Given the description of an element on the screen output the (x, y) to click on. 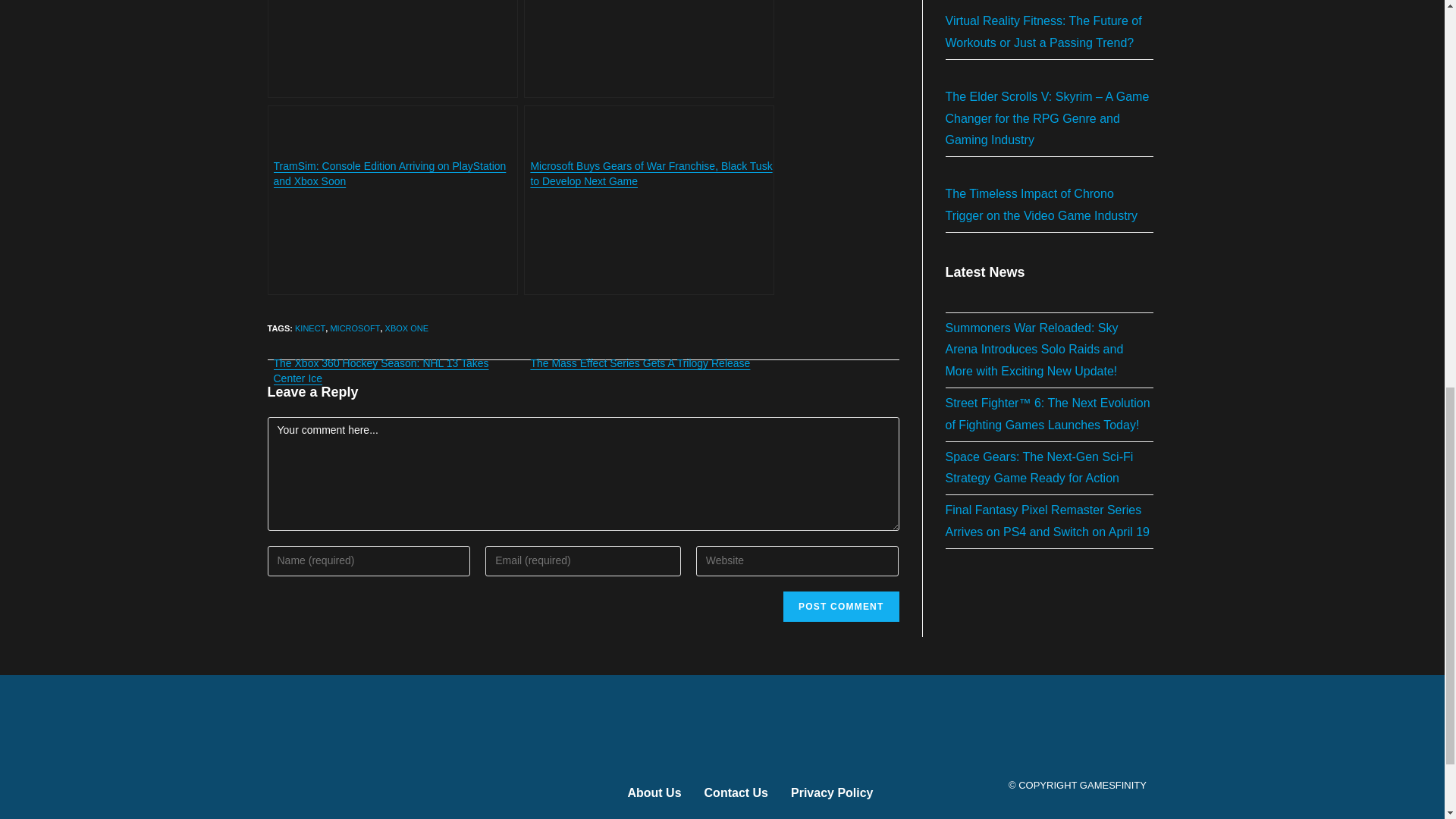
The Xbox 360 Hockey Season: NHL 13 Takes Center Ice (391, 199)
XBOX ONE (406, 327)
KINECT (309, 327)
The Xbox 360 Hockey Season: NHL 13 Takes Center Ice (391, 199)
The Mass Effect Series Gets A Trilogy Release (649, 199)
MICROSOFT (355, 327)
